Given the description of an element on the screen output the (x, y) to click on. 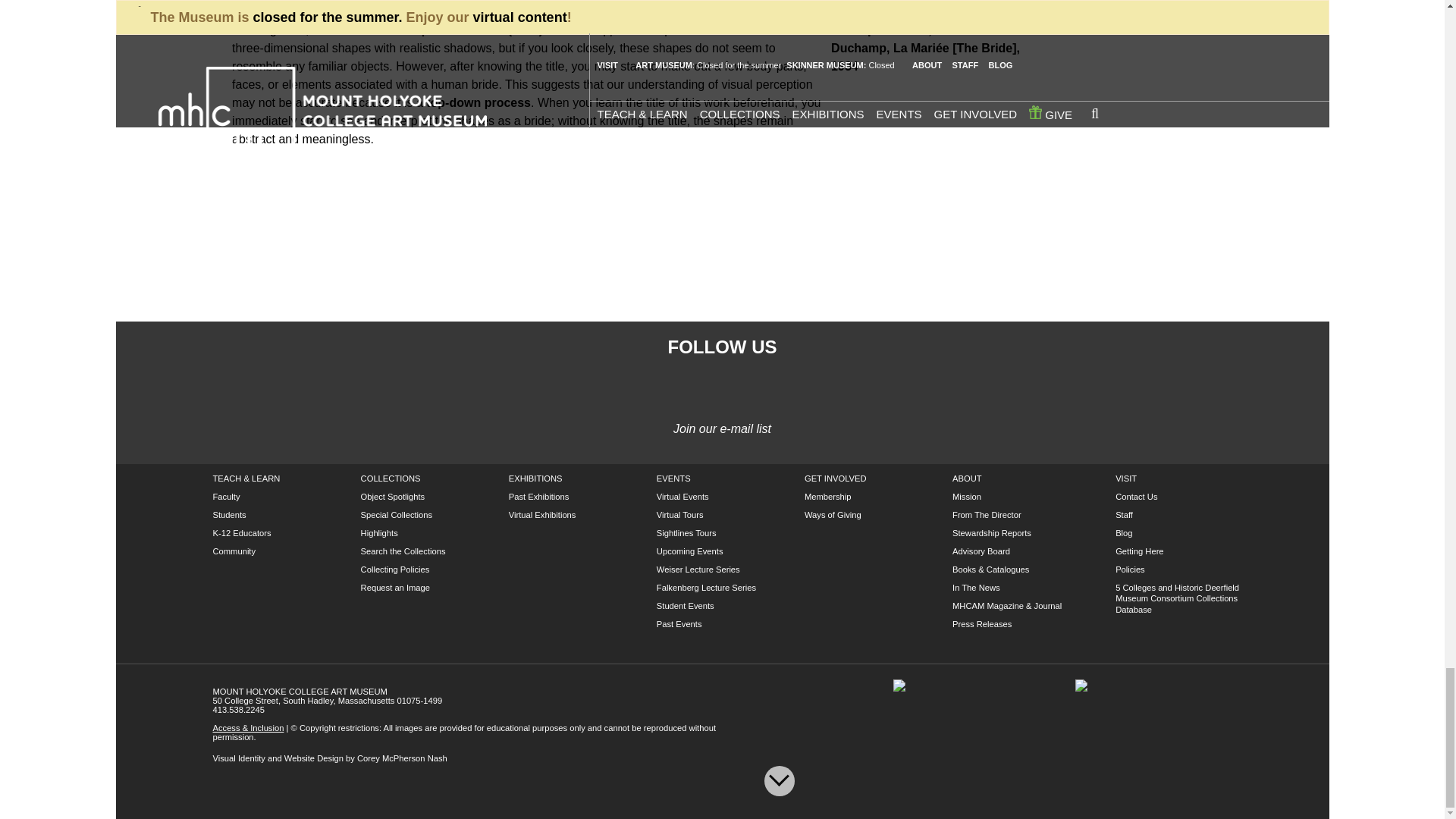
K12 Educators (241, 532)
Faculty (226, 496)
Students (229, 514)
Get Involved Overview (835, 478)
Highlights (379, 532)
Staff (1123, 514)
Current Exhibitions (535, 478)
Community (234, 551)
Past Exhibitions (538, 496)
